Given the description of an element on the screen output the (x, y) to click on. 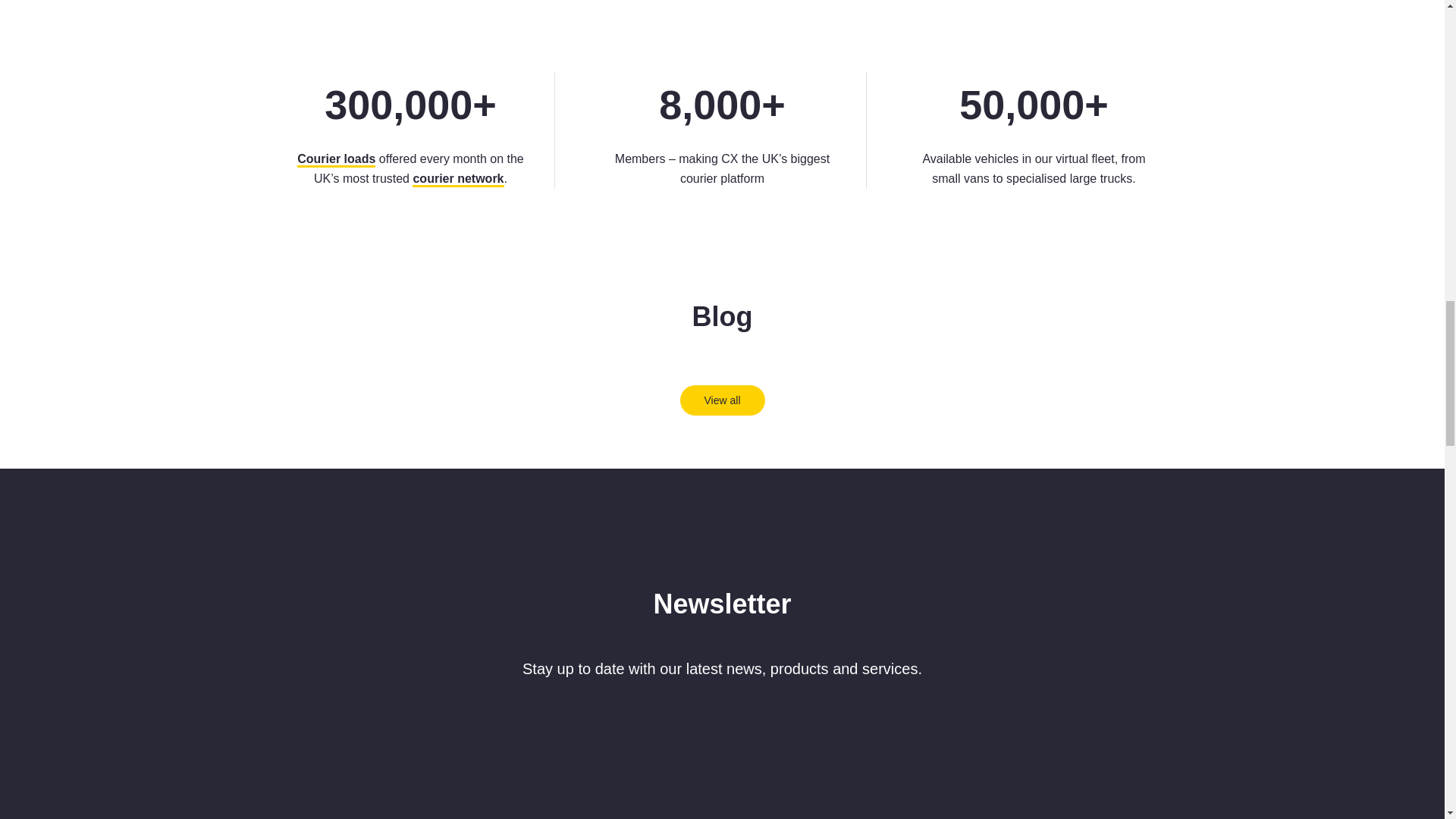
view all (721, 399)
Courier loads (336, 159)
courier network (457, 179)
